Given the description of an element on the screen output the (x, y) to click on. 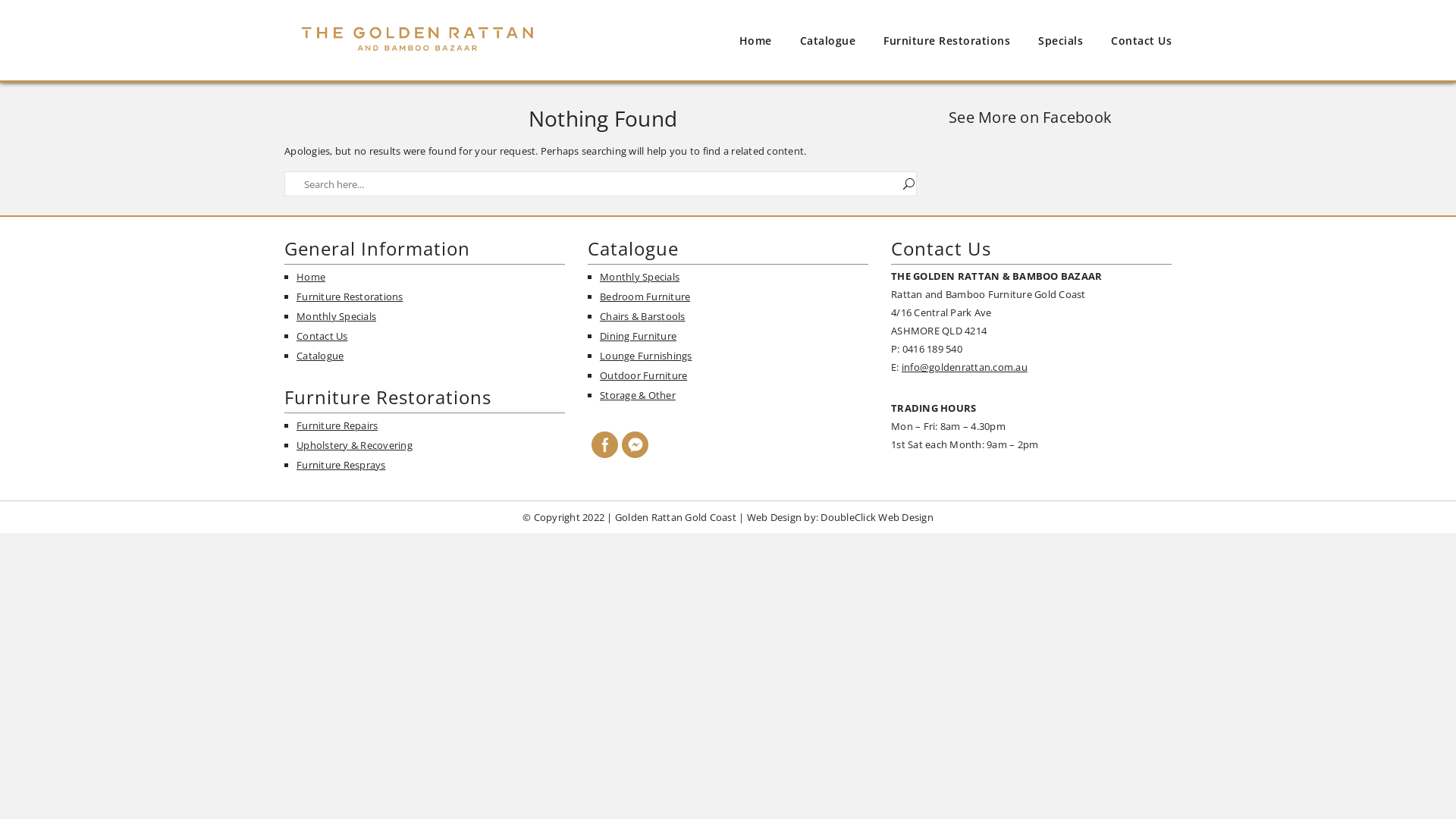
Catalogue Element type: text (319, 355)
Chairs & Barstools Element type: text (642, 316)
Monthly Specials Element type: text (336, 316)
Storage & Other Element type: text (637, 394)
Furniture Resprays Element type: text (340, 464)
Lounge Furnishings Element type: text (645, 355)
Outdoor Furniture Element type: text (643, 375)
Upholstery & Recovering Element type: text (354, 444)
Dining Furniture Element type: text (637, 335)
Home Element type: text (310, 276)
Specials Element type: text (1060, 40)
Monthly Specials Element type: text (639, 276)
Catalogue Element type: text (827, 40)
Furniture Restorations Element type: text (946, 40)
Contact Us Element type: text (322, 335)
U Element type: text (908, 183)
Bedroom Furniture Element type: text (644, 296)
Home Element type: text (754, 40)
Facebook Element type: hover (604, 444)
Contact Us Element type: text (1140, 40)
info@goldenrattan.com.au Element type: text (964, 366)
Furniture Restorations Element type: text (349, 296)
Furniture Repairs Element type: text (336, 425)
